Given the description of an element on the screen output the (x, y) to click on. 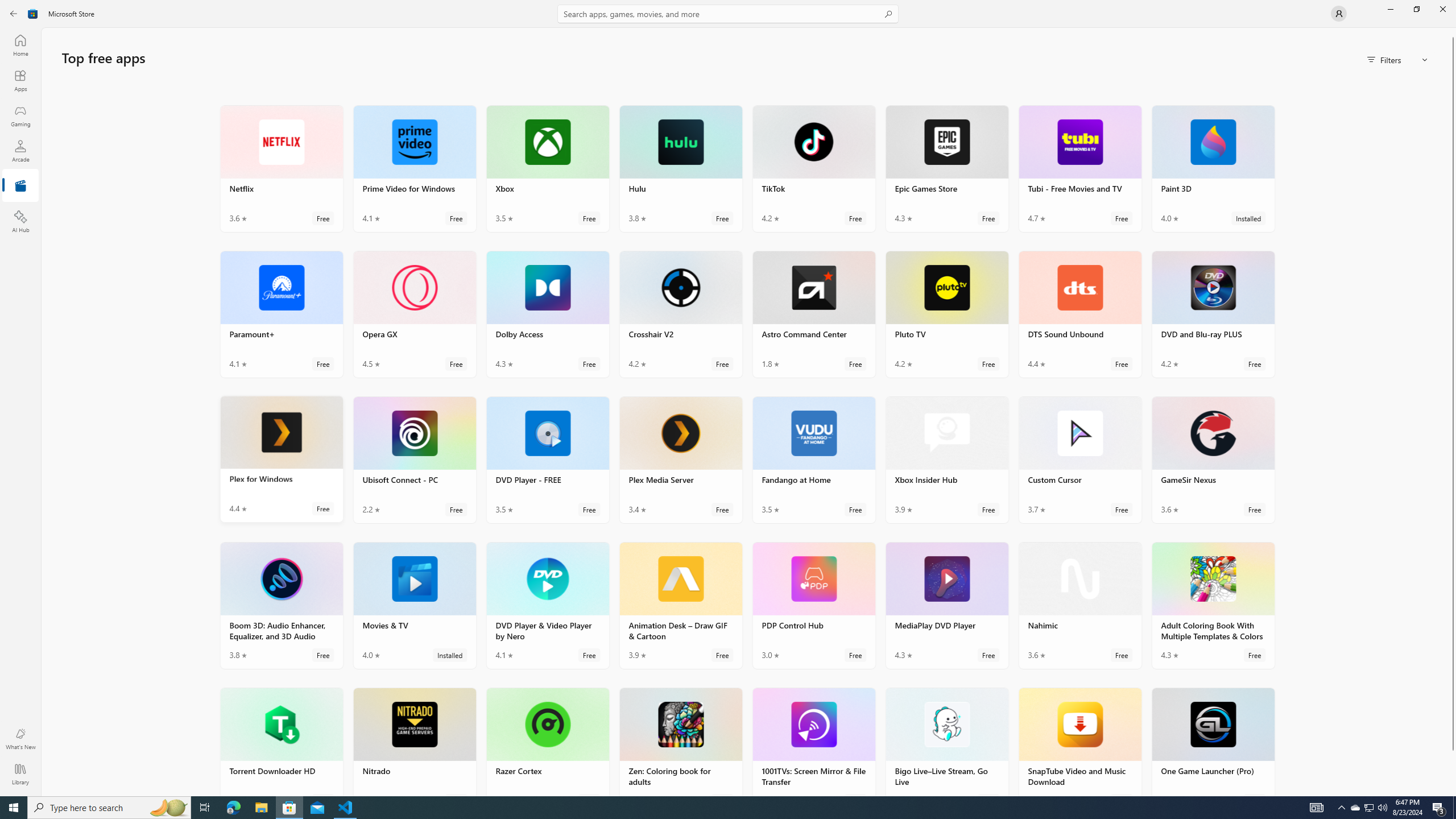
Library (20, 773)
User profile (1338, 13)
Nahimic. Average rating of 3.6 out of five stars. Free   (1079, 605)
Opera GX. Average rating of 4.5 out of five stars. Free   (414, 313)
Screenshot 1 (281, 514)
AI Hub (20, 221)
Restore Microsoft Store (1416, 9)
Netflix. Average rating of 3.6 out of five stars. Free   (281, 167)
